Given the description of an element on the screen output the (x, y) to click on. 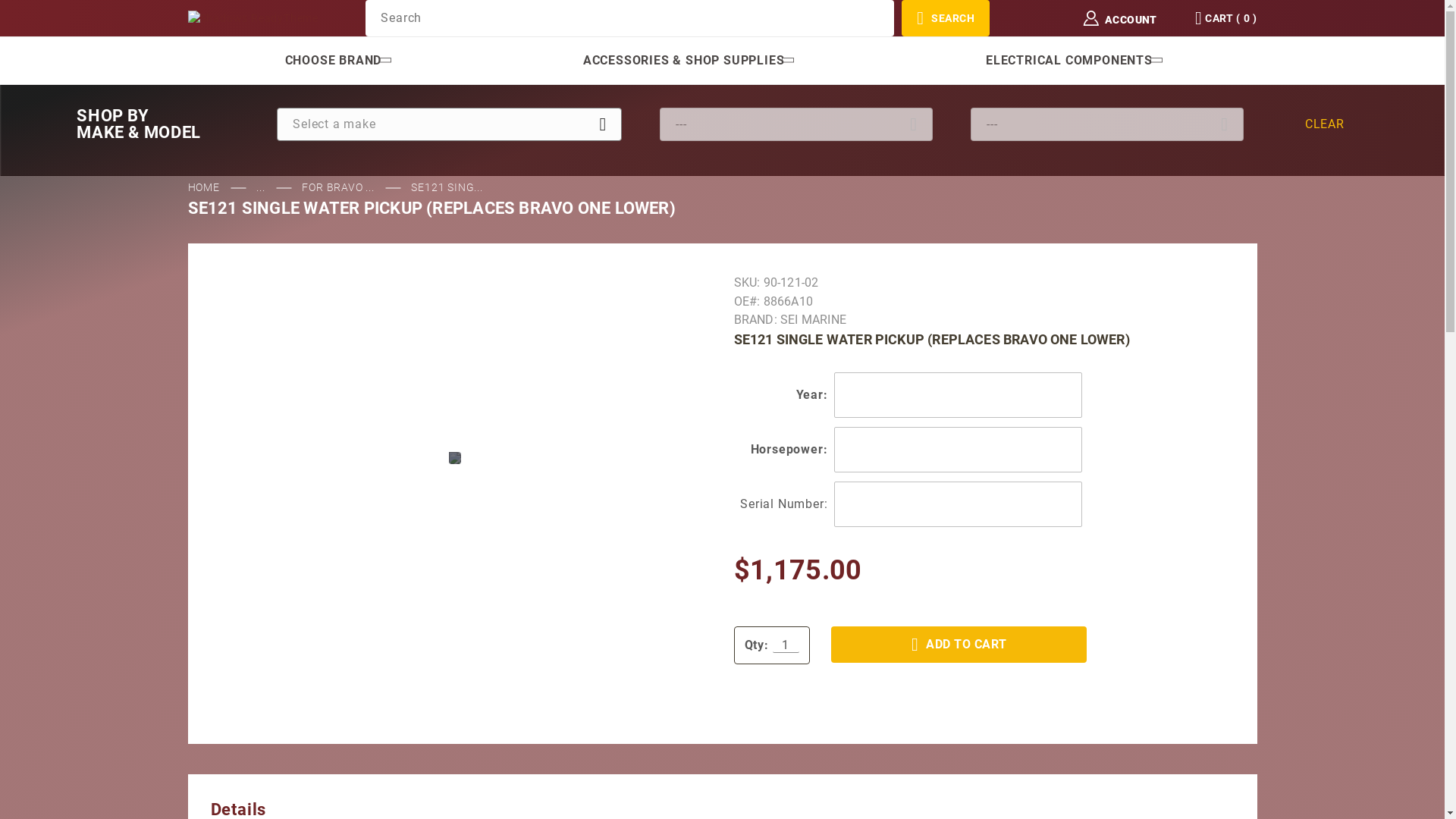
HOME Element type: text (205, 187)
... Element type: text (261, 187)
SEARCH Element type: text (945, 18)
ADD TO CART Element type: text (959, 644)
Sterndrive Engineering Element type: hover (253, 17)
Sign In Element type: text (1131, 166)
CART (
0
) Element type: text (1223, 17)
SE121 SING... Element type: text (446, 187)
FOR BRAVO ... Element type: text (338, 187)
ACCOUNT Element type: text (1123, 18)
CLEAR Element type: text (1324, 124)
